Given the description of an element on the screen output the (x, y) to click on. 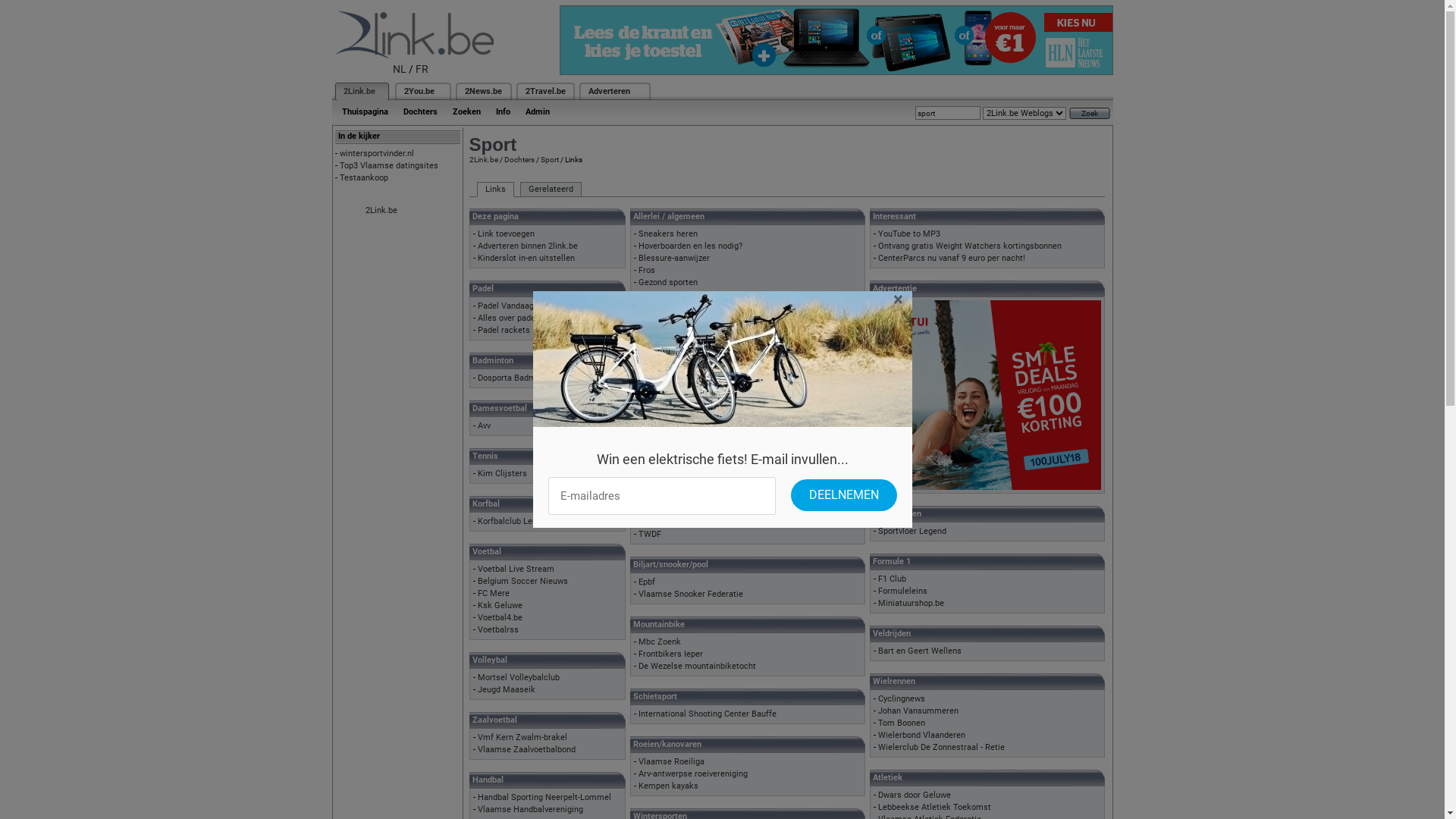
Adverteren binnen 2link.be Element type: text (527, 246)
Mortsel Volleybalclub Element type: text (518, 677)
YouTube to MP3 Element type: text (909, 233)
2Travel.be Element type: text (544, 91)
Bart en Geert Wellens Element type: text (919, 650)
Wielerclub De Zonnestraal - Retie Element type: text (941, 747)
Heren sneakers Element type: text (668, 390)
Jeugd Maaseik Element type: text (506, 689)
Sneakers heren Element type: text (667, 402)
Zoek Element type: text (1089, 113)
Formuleleins Element type: text (902, 591)
Ontvang gratis Weight Watchers kortingsbonnen Element type: text (969, 246)
Dosporta Badminton Element type: text (516, 377)
Dochters Element type: text (420, 111)
Info Element type: text (502, 111)
CenterParcs nu vanaf 9 euro per nacht! Element type: text (951, 258)
Sportvloer Legend Element type: text (912, 531)
Meer zwemmen.2link.be Element type: text (695, 474)
Kempen kayaks Element type: text (668, 785)
Heren sneakers Element type: text (668, 342)
2Link.be Element type: text (482, 159)
wintersportvinder.nl Element type: text (376, 153)
FC Mere Element type: text (493, 593)
Links Element type: text (494, 189)
Testaankoop Element type: text (363, 177)
Voetbal4.be Element type: text (499, 617)
Sport Element type: text (548, 159)
Adverteren Element type: text (609, 91)
De Wezelse mountainbiketocht Element type: text (697, 666)
Hoverboarden en les nodig? Element type: text (690, 246)
Vlaamse Zaalvoetbalbond Element type: text (526, 749)
Kim Clijsters Element type: text (502, 473)
Korfbalclub Leuven Element type: text (513, 521)
Zwemclub Element type: text (657, 450)
Overpeltse zwemvereniging Ozv Element type: text (698, 462)
Dosporta Darts Element type: text (666, 522)
Fros Element type: text (646, 270)
Gerelateerd Element type: text (550, 189)
Vlaamse Snooker Federatie Element type: text (690, 594)
Mbc Zoenk Element type: text (659, 641)
Zoeken Element type: text (465, 111)
Voetbal Live Stream Element type: text (515, 569)
Ksk Geluwe Element type: text (499, 605)
Sneakers heren Element type: text (667, 233)
ISB Element type: text (644, 294)
Voetbalrss Element type: text (497, 629)
Gezond sporten Element type: text (667, 282)
Johan Vansummeren Element type: text (918, 710)
Arv-antwerpse roeivereniging Element type: text (692, 773)
Lebbeekse Atletiek Toekomst Element type: text (934, 807)
Cyclingnews Element type: text (901, 698)
Blessure-aanwijzer Element type: text (673, 258)
Handbal Sporting Neerpelt-Lommel Element type: text (544, 797)
Belgium Soccer Nieuws Element type: text (522, 581)
Vlaamse Roeiliga Element type: text (671, 761)
F1 Club Element type: text (892, 578)
Dwars door Geluwe Element type: text (914, 795)
Frontbikers Ieper Element type: text (670, 653)
Padel Vandaag Element type: text (505, 305)
Thuispagina Element type: text (364, 111)
Tom Boonen Element type: text (901, 723)
Admin Element type: text (536, 111)
2Link.be Element type: text (381, 210)
Avv Element type: text (483, 425)
Dochters Element type: text (518, 159)
Epbf Element type: text (646, 581)
TWDF Element type: text (649, 534)
2News.be Element type: text (482, 91)
Top3 Vlaamse datingsites Element type: text (388, 165)
Miniatuurshop.be Element type: text (911, 603)
NL Element type: text (399, 68)
Kinderslot in-en uitstellen Element type: text (525, 258)
Vmf Kern Zwalm-brakel Element type: text (522, 737)
2Link.be Element type: text (358, 91)
Vlaamse Handbalvereniging Element type: text (530, 809)
International Shooting Center Bauffe Element type: text (707, 713)
FR Element type: text (421, 68)
Alles over padel Element type: text (507, 318)
Link toevoegen Element type: text (505, 233)
Padel rackets Element type: text (503, 330)
Wielerbond Vlaanderen Element type: text (921, 735)
2You.be Element type: text (418, 91)
